Given the description of an element on the screen output the (x, y) to click on. 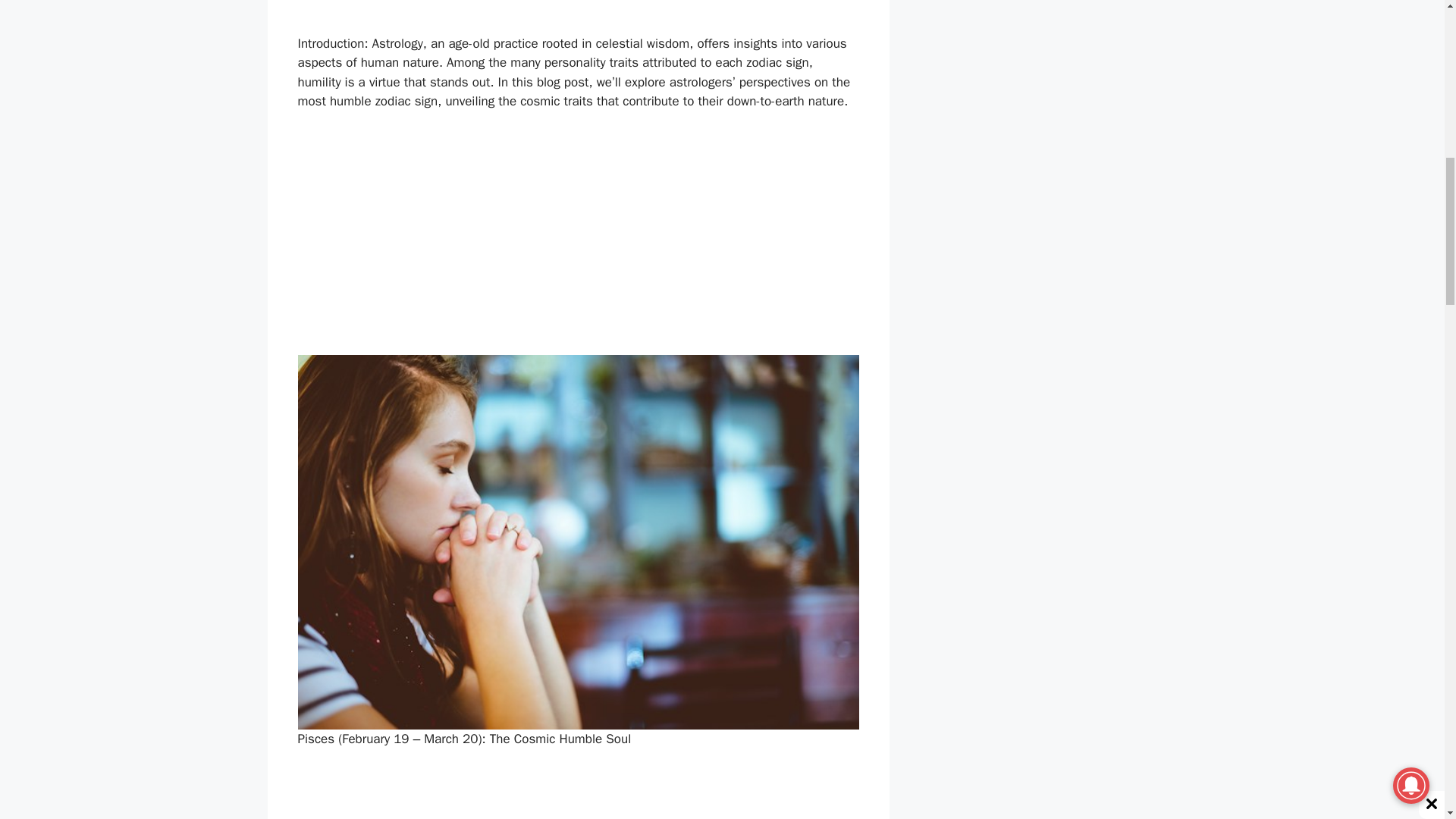
Advertisement (578, 793)
Advertisement (578, 9)
Advertisement (578, 242)
